Given the description of an element on the screen output the (x, y) to click on. 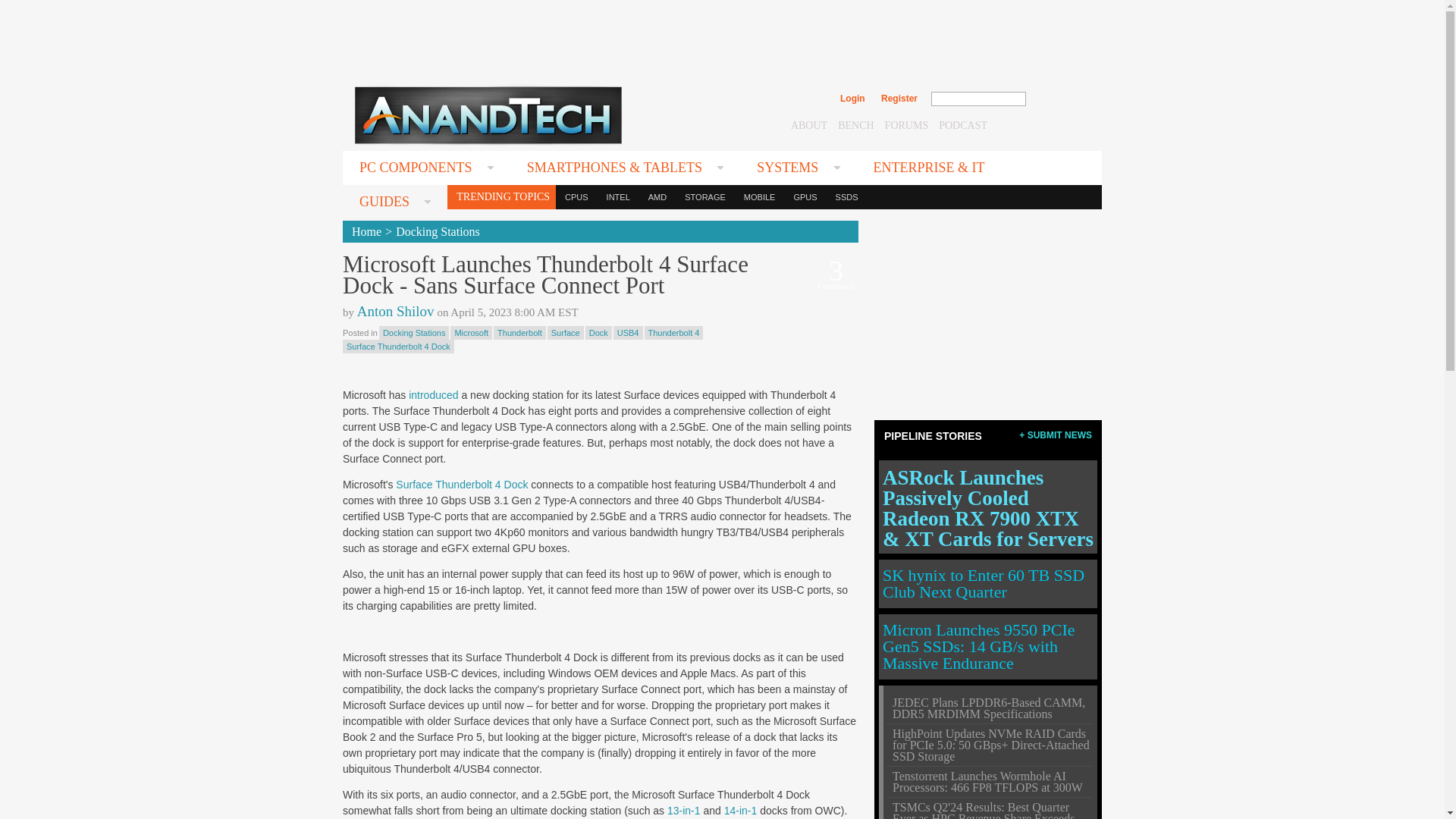
Register (898, 98)
search (1059, 98)
search (1059, 98)
FORUMS (906, 125)
PODCAST (963, 125)
BENCH (855, 125)
Login (852, 98)
ABOUT (808, 125)
search (1059, 98)
